Given the description of an element on the screen output the (x, y) to click on. 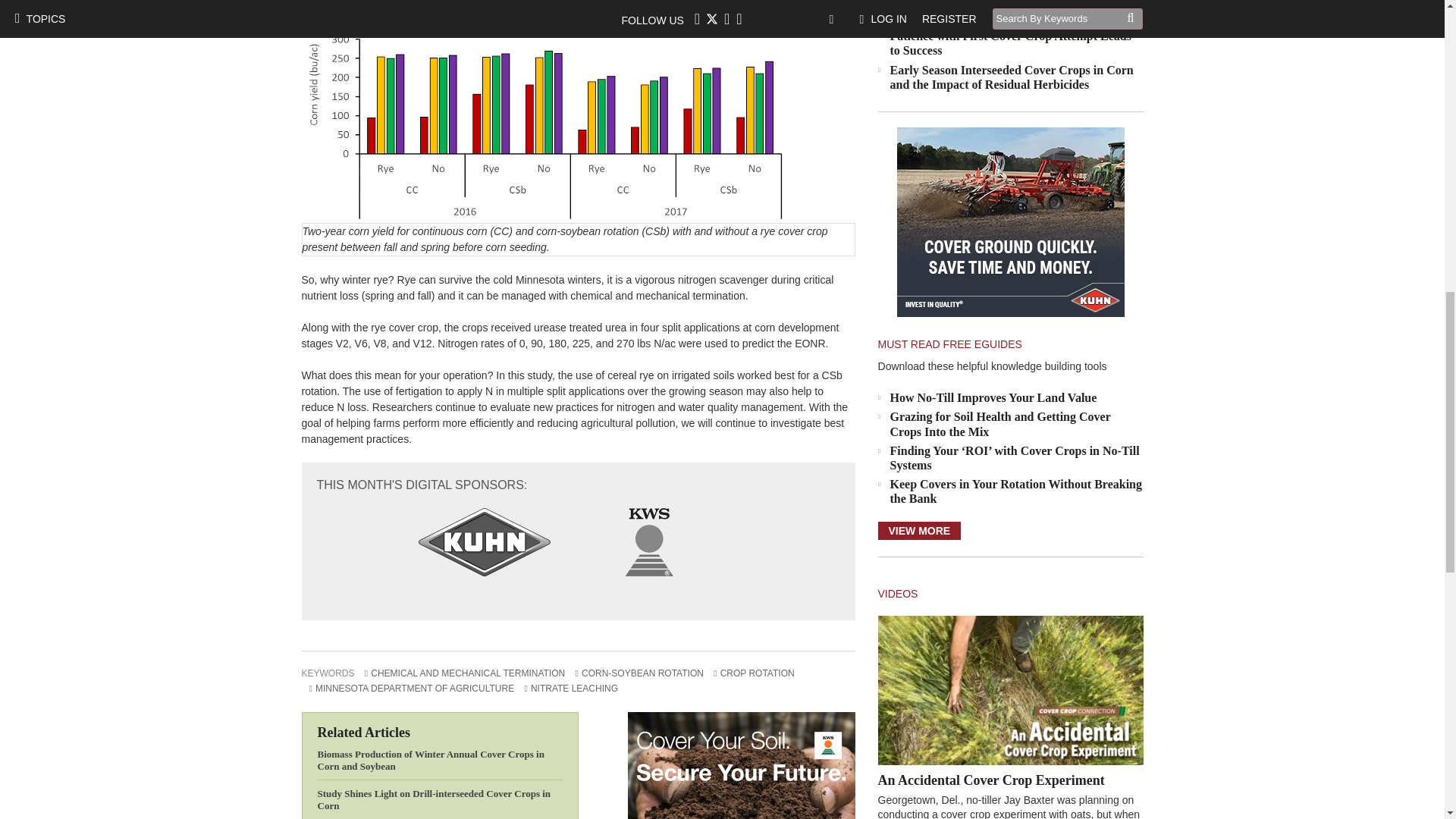
Kuhn Krause Inc. (1010, 221)
KWS Cereals (648, 541)
5 Reasons to Seed Cover Crops After Specialty Crops (1010, 11)
Patience with First Cover Crop Attempt Leads to Success (1010, 42)
KWS Cereals (741, 765)
Kuhn Krause Inc. (483, 541)
